Given the description of an element on the screen output the (x, y) to click on. 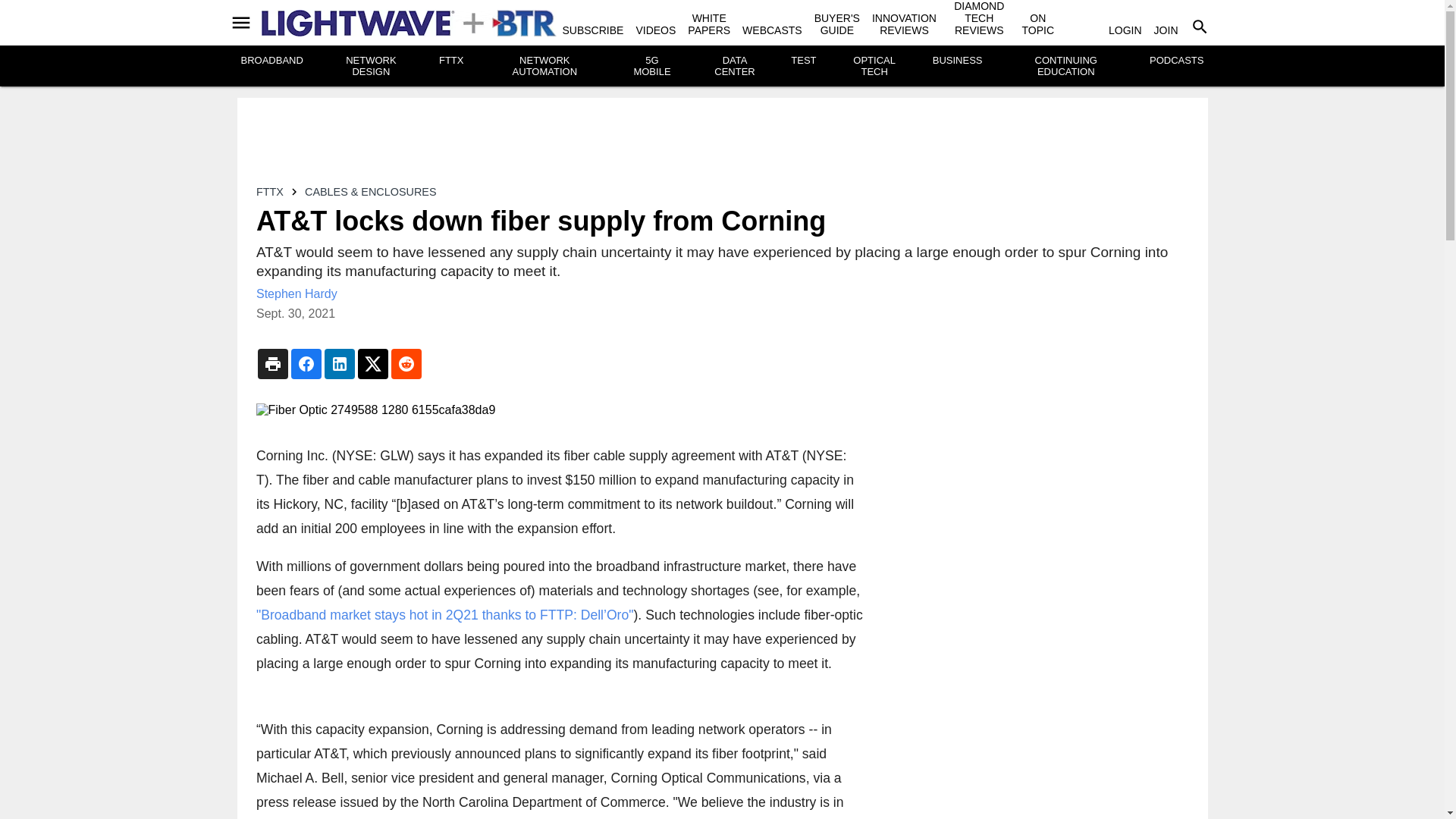
DATA CENTER (734, 65)
WHITE PAPERS (708, 24)
PODCASTS (1177, 60)
BUYER'S GUIDE (836, 24)
OPTICAL TECH (874, 65)
JOIN (1165, 30)
VIDEOS (654, 30)
BUSINESS (957, 60)
TEST (802, 60)
5G MOBILE (651, 65)
